Given the description of an element on the screen output the (x, y) to click on. 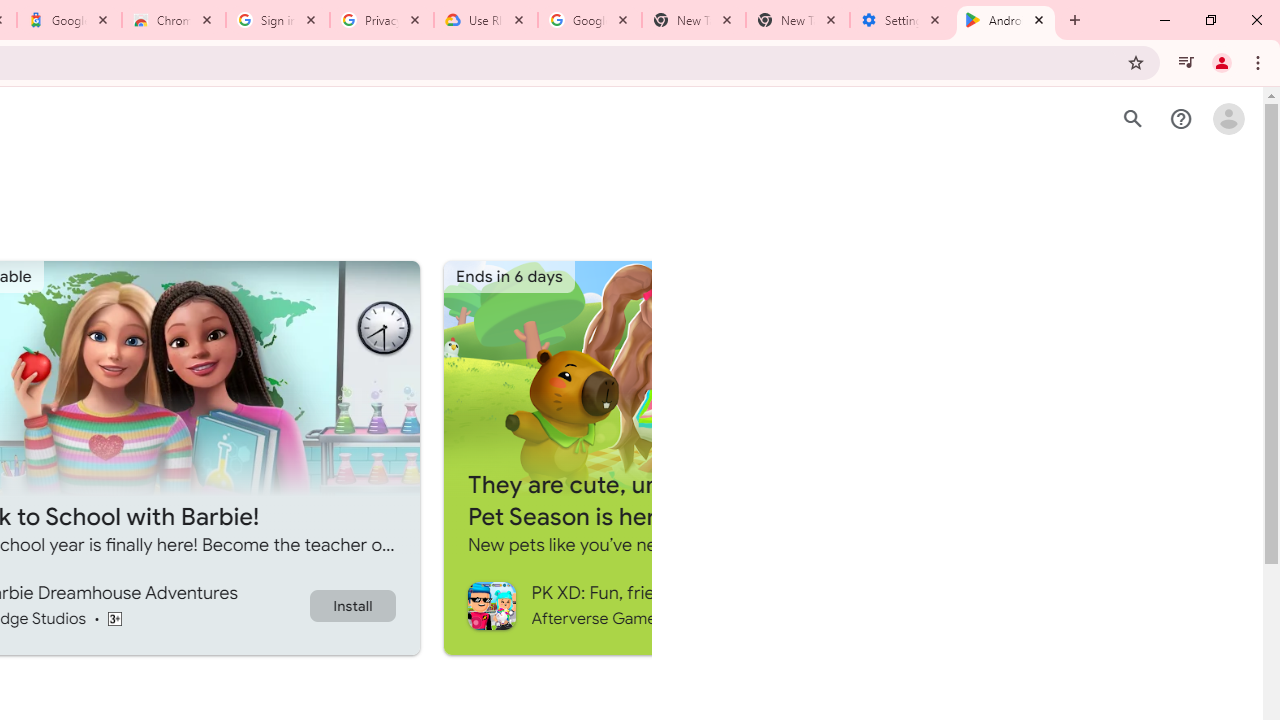
Google (68, 20)
Settings - System (901, 20)
Install (351, 605)
Open account menu (1228, 119)
New Tab (797, 20)
